Given the description of an element on the screen output the (x, y) to click on. 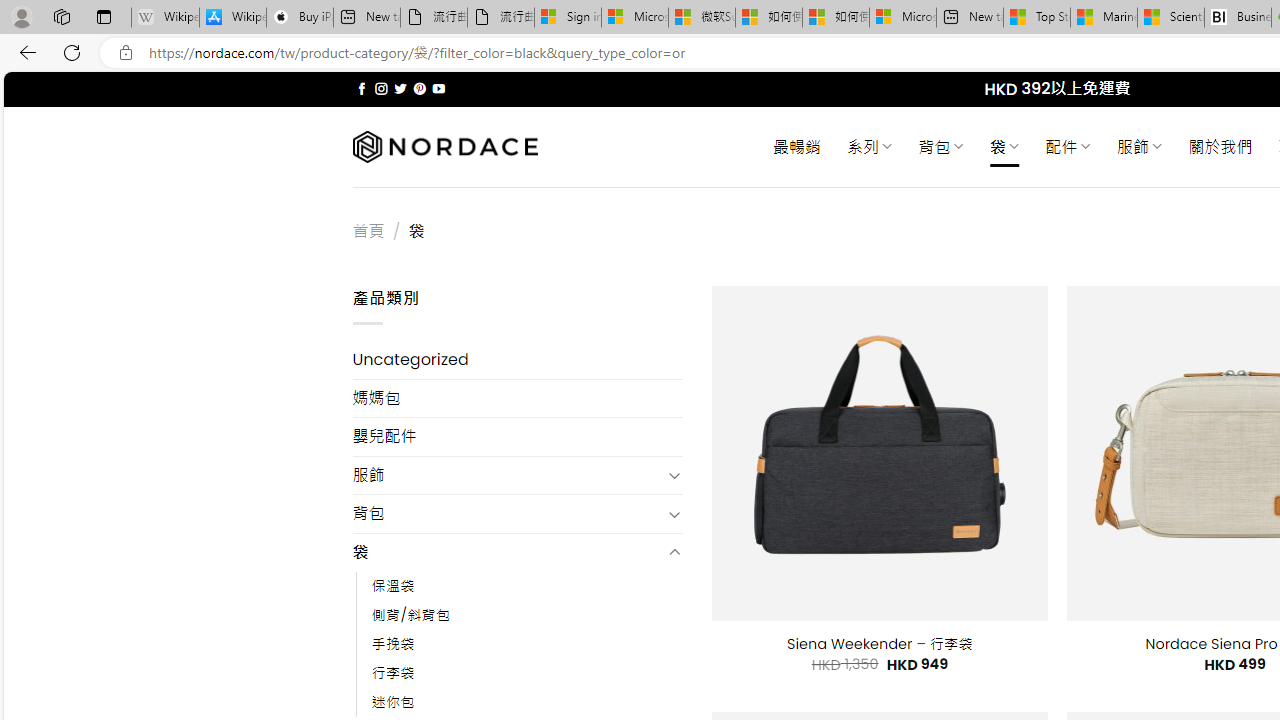
Buy iPad - Apple (299, 17)
Microsoft Services Agreement (634, 17)
